Given the description of an element on the screen output the (x, y) to click on. 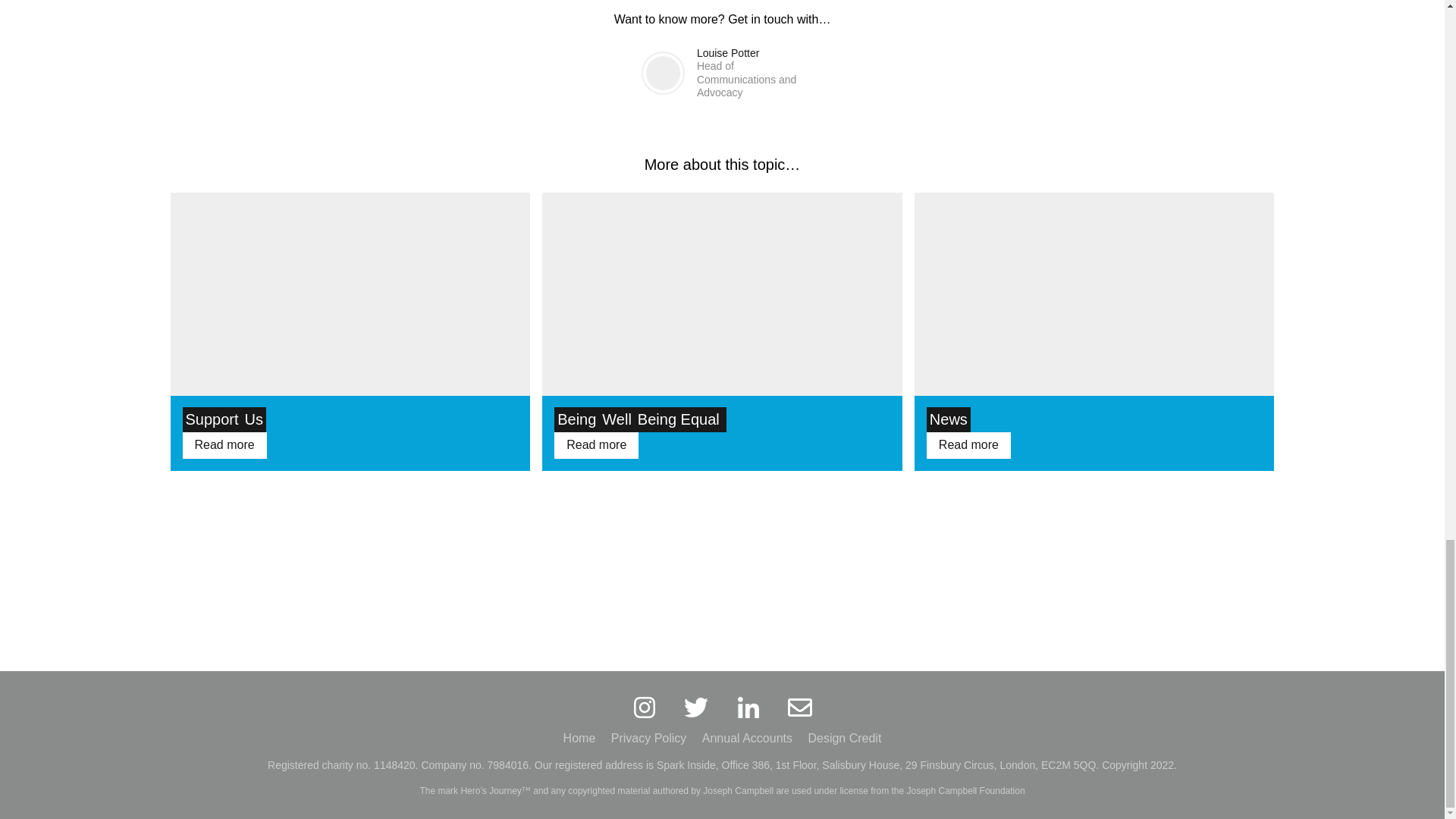
Instagram (643, 707)
BeingWellBeing Equal  (721, 419)
LinkedIn (748, 707)
Mailing List (799, 707)
Twitter (695, 707)
Read more (224, 444)
Read more (596, 444)
SupportUs (350, 419)
